Given the description of an element on the screen output the (x, y) to click on. 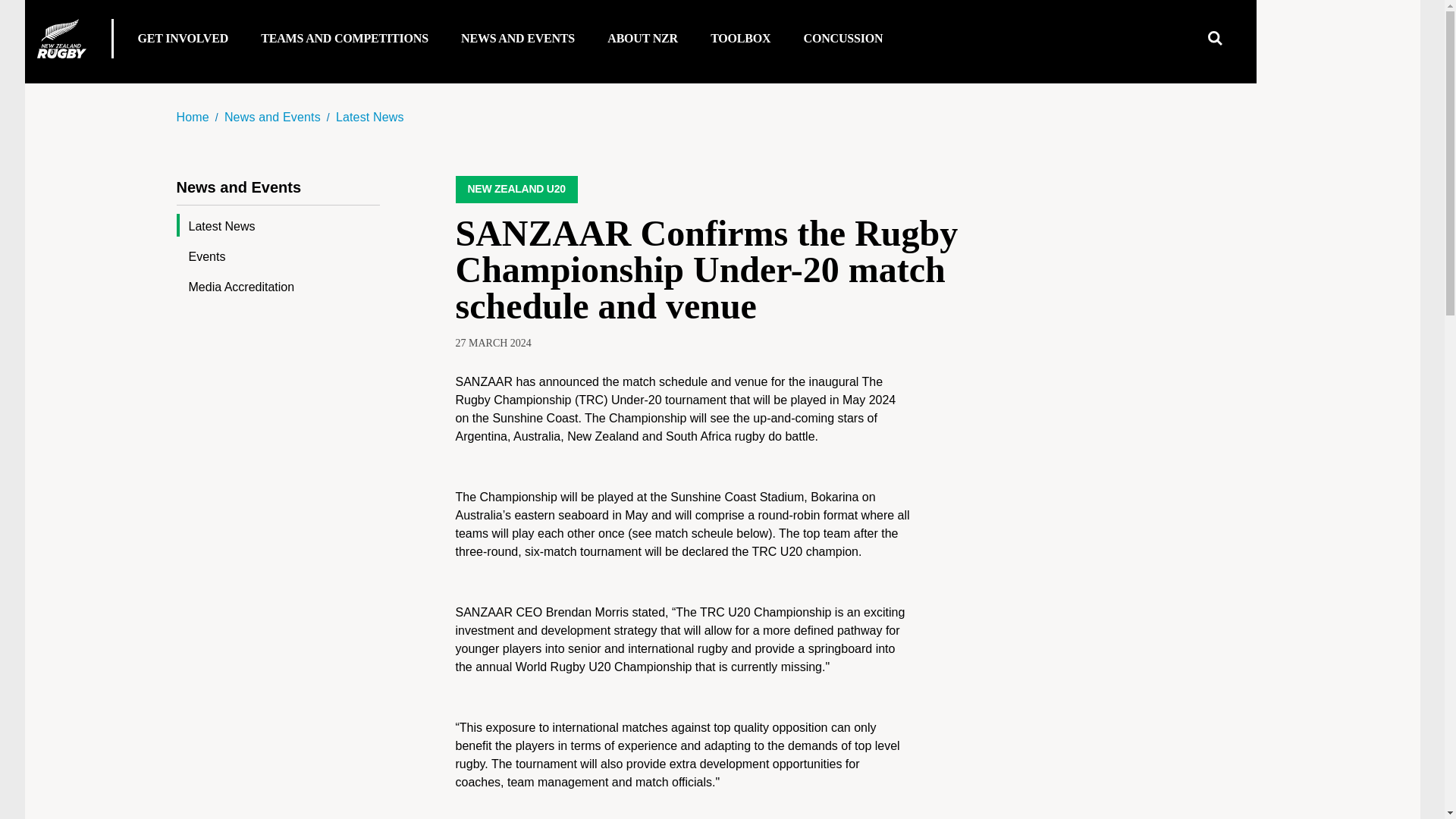
GET INVOLVED (184, 43)
Return to homepage (60, 38)
NZ Rugby (60, 38)
